Given the description of an element on the screen output the (x, y) to click on. 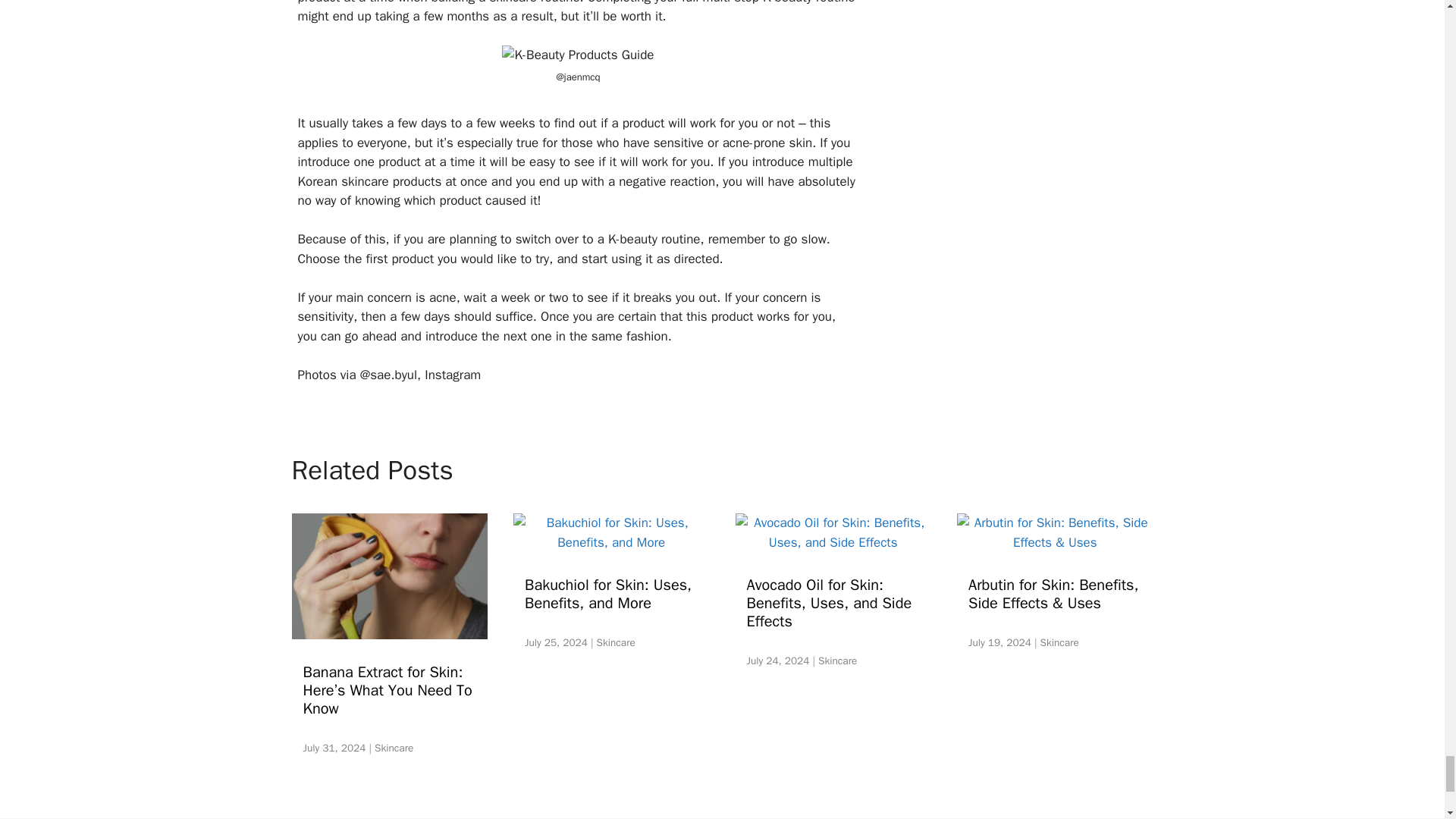
8:21 pm (556, 642)
6:33 pm (777, 660)
Avocado Oil for Skin: Benefits, Uses, and Side Effects (833, 542)
Bakuchiol for Skin: Uses, Benefits, and More (611, 542)
4:55 pm (334, 748)
5:52 pm (999, 642)
